Given the description of an element on the screen output the (x, y) to click on. 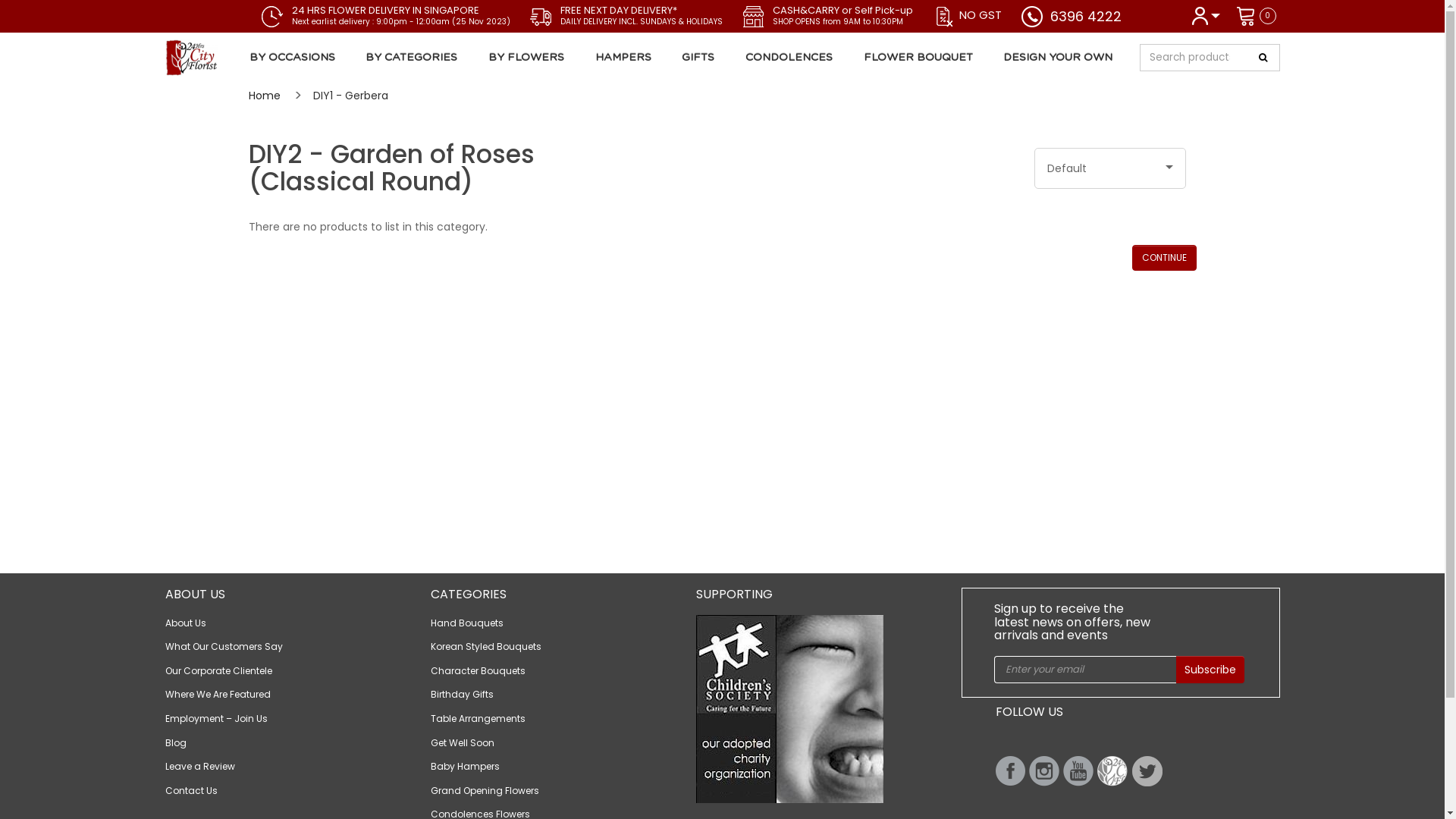
CONTINUE Element type: text (1163, 257)
DIY2 - Garden of Roses (Classical Round) Element type: hover (242, 56)
Default Element type: text (1110, 167)
Birthday Gifts Element type: text (461, 693)
  Element type: text (1043, 771)
GIFTS Element type: text (698, 57)
Get Well Soon Element type: text (462, 742)
Where We Are Featured Element type: text (217, 693)
CONDOLENCES Element type: text (789, 57)
Leave a Review Element type: text (200, 765)
0 Element type: text (1254, 15)
Home Element type: text (264, 95)
Subscribe Element type: text (1209, 669)
My Account Element type: hover (1205, 14)
  Element type: text (1009, 770)
BY CATEGORIES Element type: text (411, 57)
Table Arrangements Element type: text (477, 718)
DIY1 - Gerbera Element type: text (349, 95)
BY FLOWERS Element type: text (526, 57)
Grand Opening Flowers Element type: text (484, 790)
Contact Us Element type: text (191, 790)
Our Corporate Clientele Element type: text (218, 670)
Blog Element type: text (175, 742)
About Us Element type: text (185, 622)
  Element type: text (1078, 771)
Baby Hampers Element type: text (464, 765)
6396 4222 Element type: text (1084, 15)
BY OCCASIONS Element type: text (294, 57)
DESIGN YOUR OWN Element type: text (1058, 57)
FLOWER BOUQUET Element type: text (917, 57)
Hand Bouquets Element type: text (466, 622)
What Our Customers Say Element type: text (223, 646)
Korean Styled Bouquets Element type: text (485, 646)
HAMPERS Element type: text (622, 57)
Character Bouquets Element type: text (477, 670)
